Given the description of an element on the screen output the (x, y) to click on. 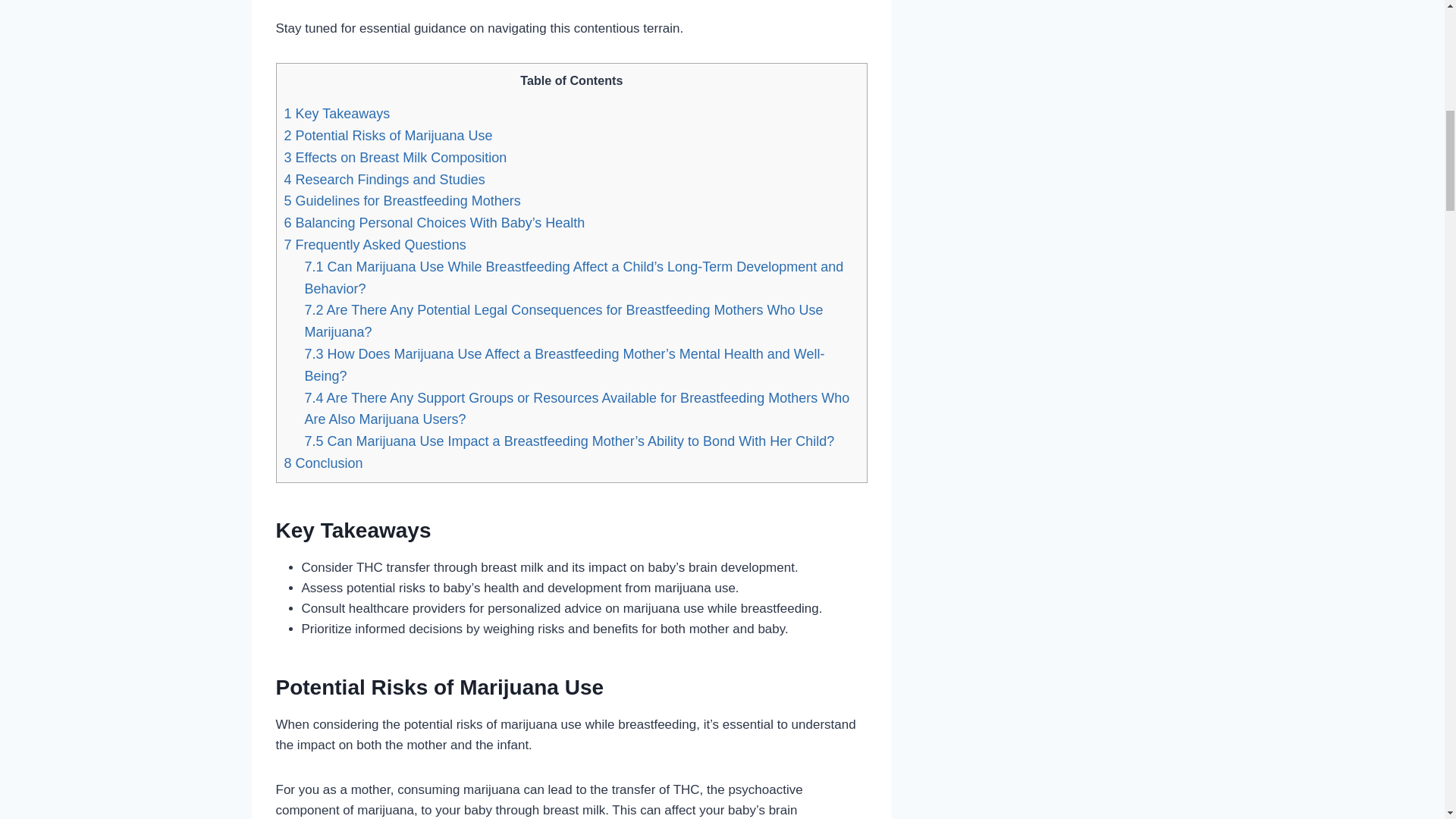
2 Potential Risks of Marijuana Use (387, 135)
7 Frequently Asked Questions (374, 244)
3 Effects on Breast Milk Composition (394, 157)
4 Research Findings and Studies (383, 179)
8 Conclusion (322, 462)
5 Guidelines for Breastfeeding Mothers (401, 200)
1 Key Takeaways (336, 113)
